Given the description of an element on the screen output the (x, y) to click on. 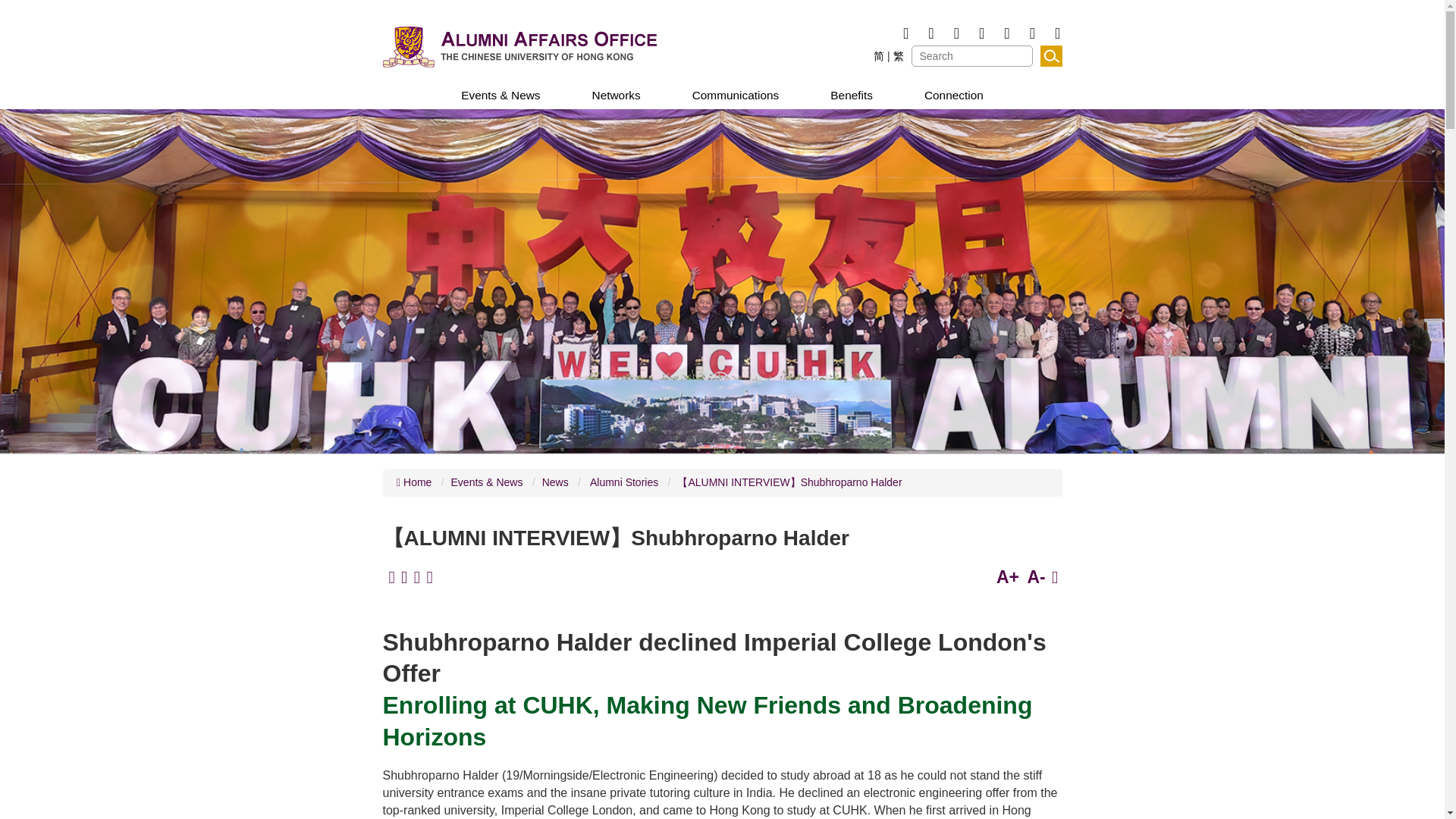
submitToSearch (1051, 55)
submitToSearch (1051, 55)
Larger (1007, 577)
Networks (616, 95)
Smaller (1035, 577)
